Given the description of an element on the screen output the (x, y) to click on. 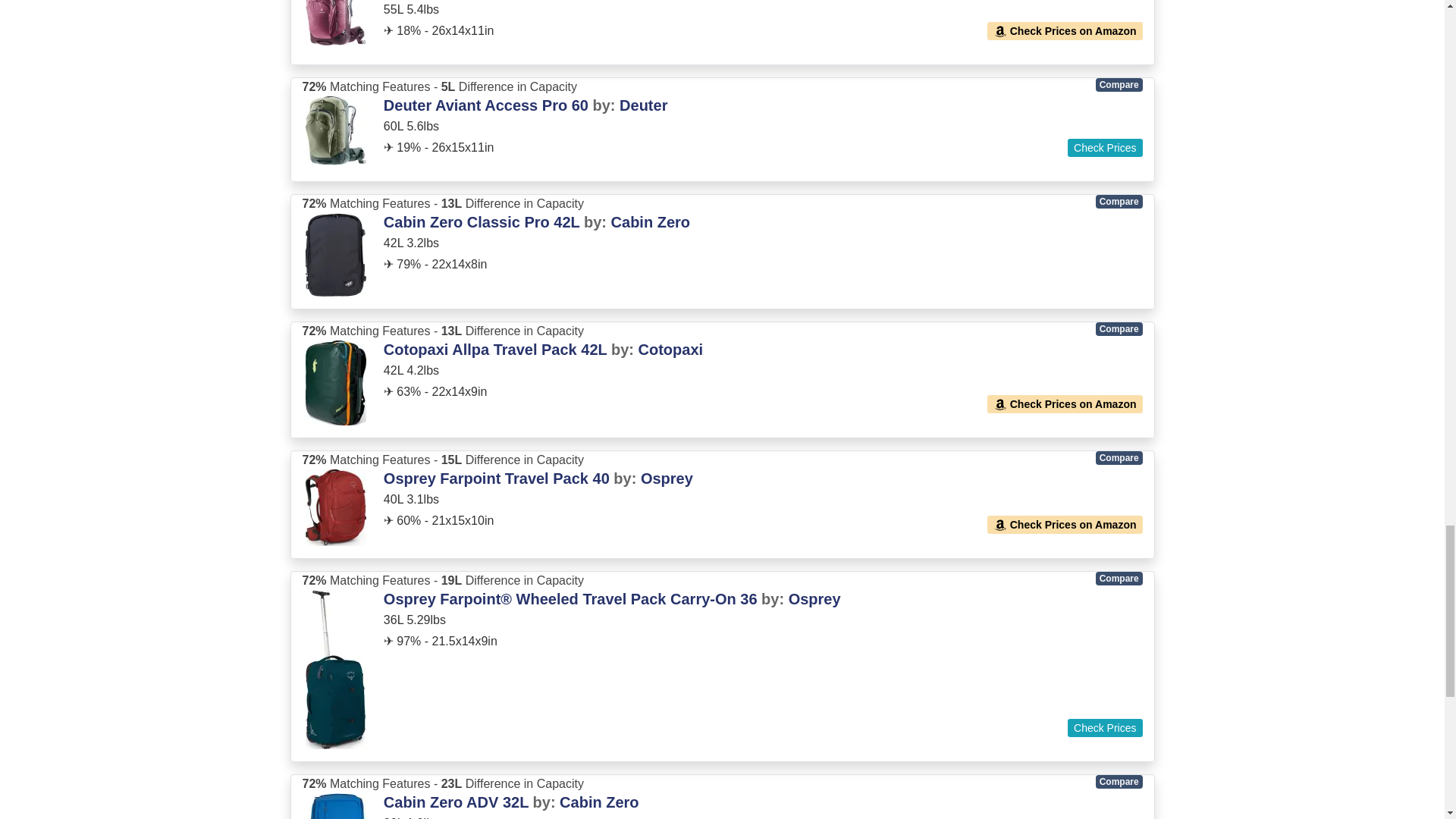
Deuter (643, 105)
Compare (1119, 84)
Deuter Aviant Access Pro 60 (486, 105)
Check Prices (1104, 147)
Cabin Zero Classic Pro 42L (483, 221)
Cabin Zero (650, 221)
Compare (1119, 201)
Check Prices on Amazon (1064, 31)
